Given the description of an element on the screen output the (x, y) to click on. 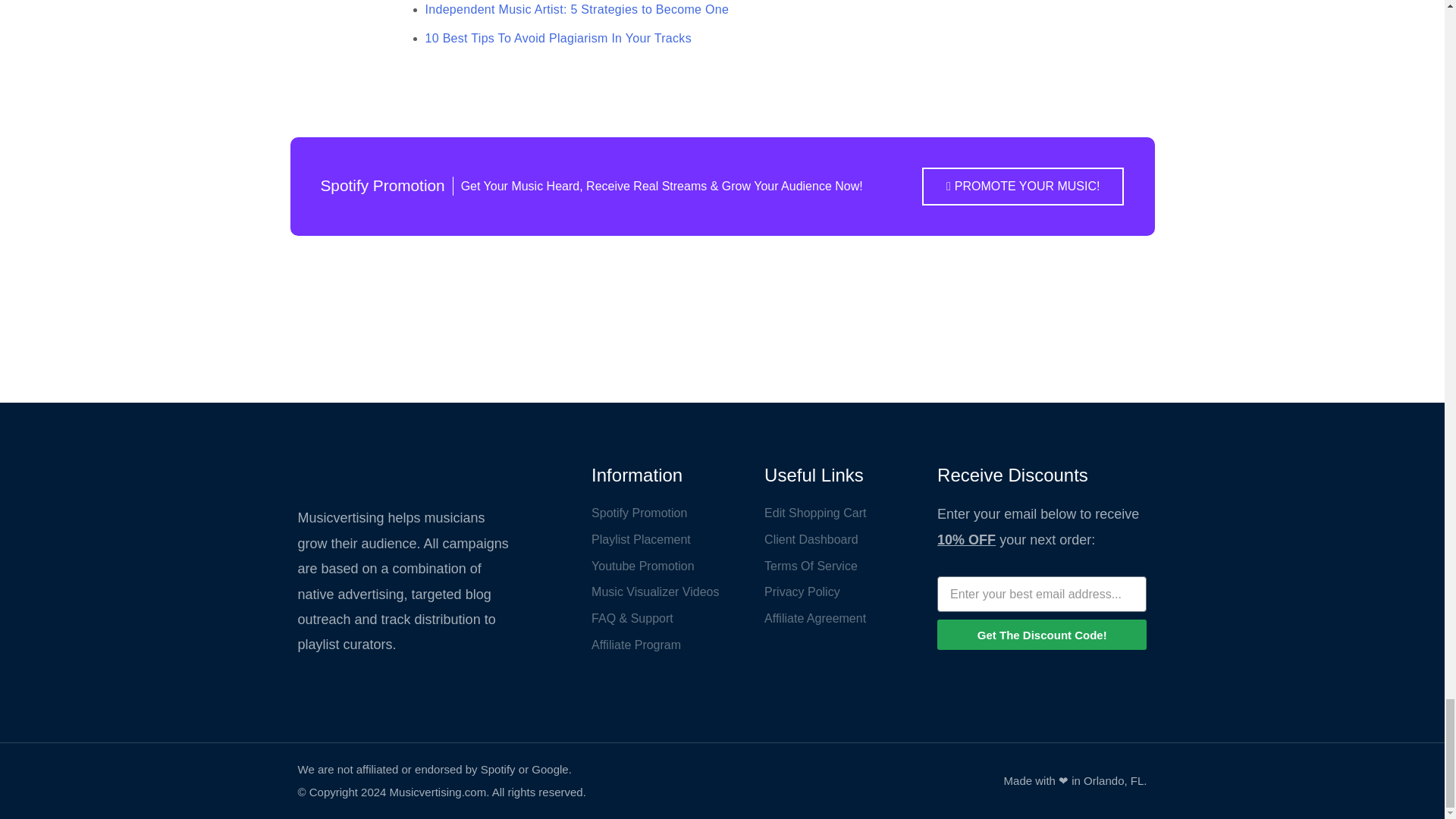
MUSICVERTISING Music Promotion (406, 476)
